Given the description of an element on the screen output the (x, y) to click on. 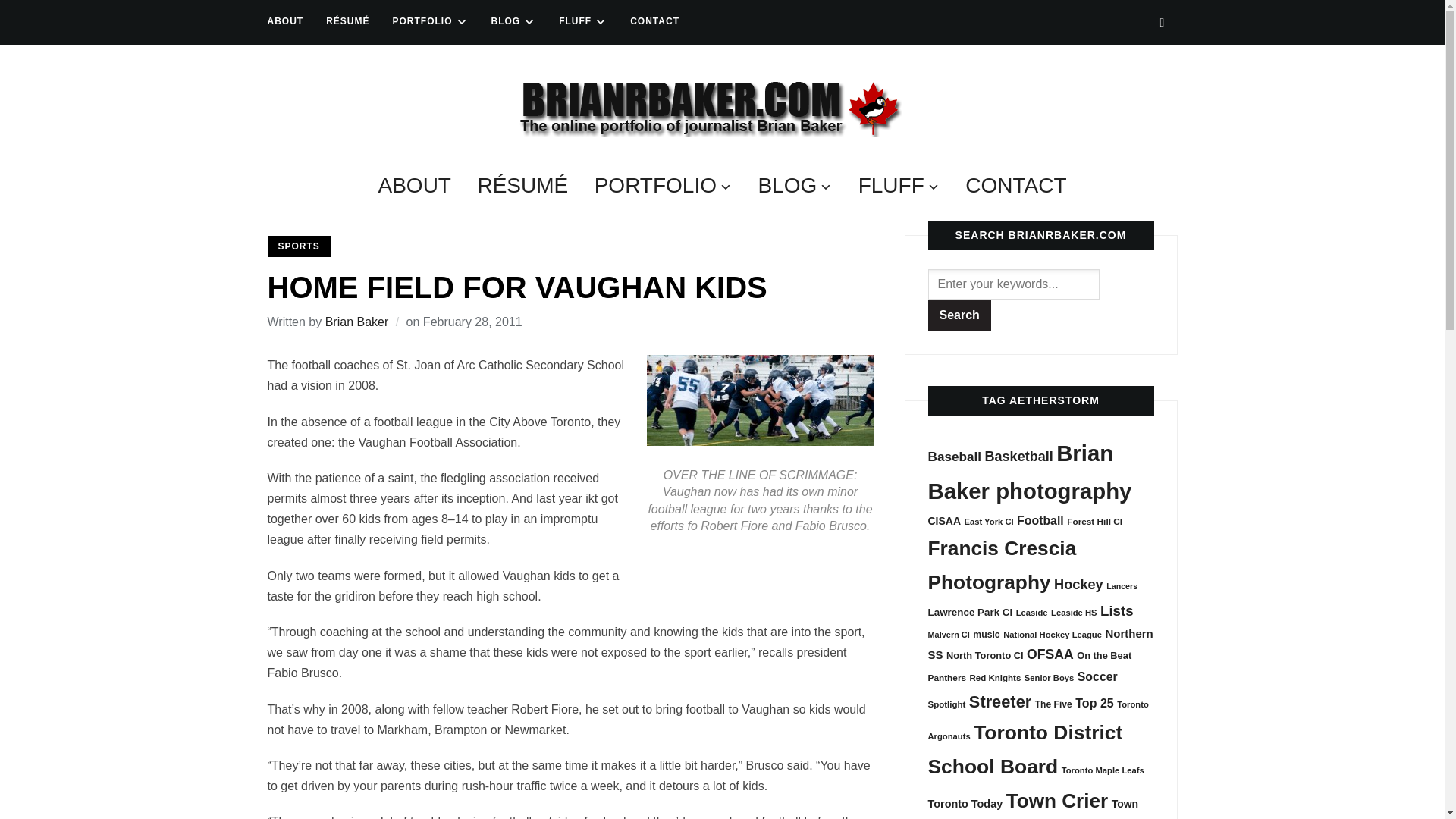
BB-VT-Fball-League (759, 399)
PORTFOLIO (430, 21)
Search (959, 315)
BLOG (514, 21)
ABOUT (284, 21)
FLUFF (583, 21)
Posts by Brian Baker (356, 323)
Search (959, 315)
CONTACT (654, 21)
Search (1161, 22)
